Given the description of an element on the screen output the (x, y) to click on. 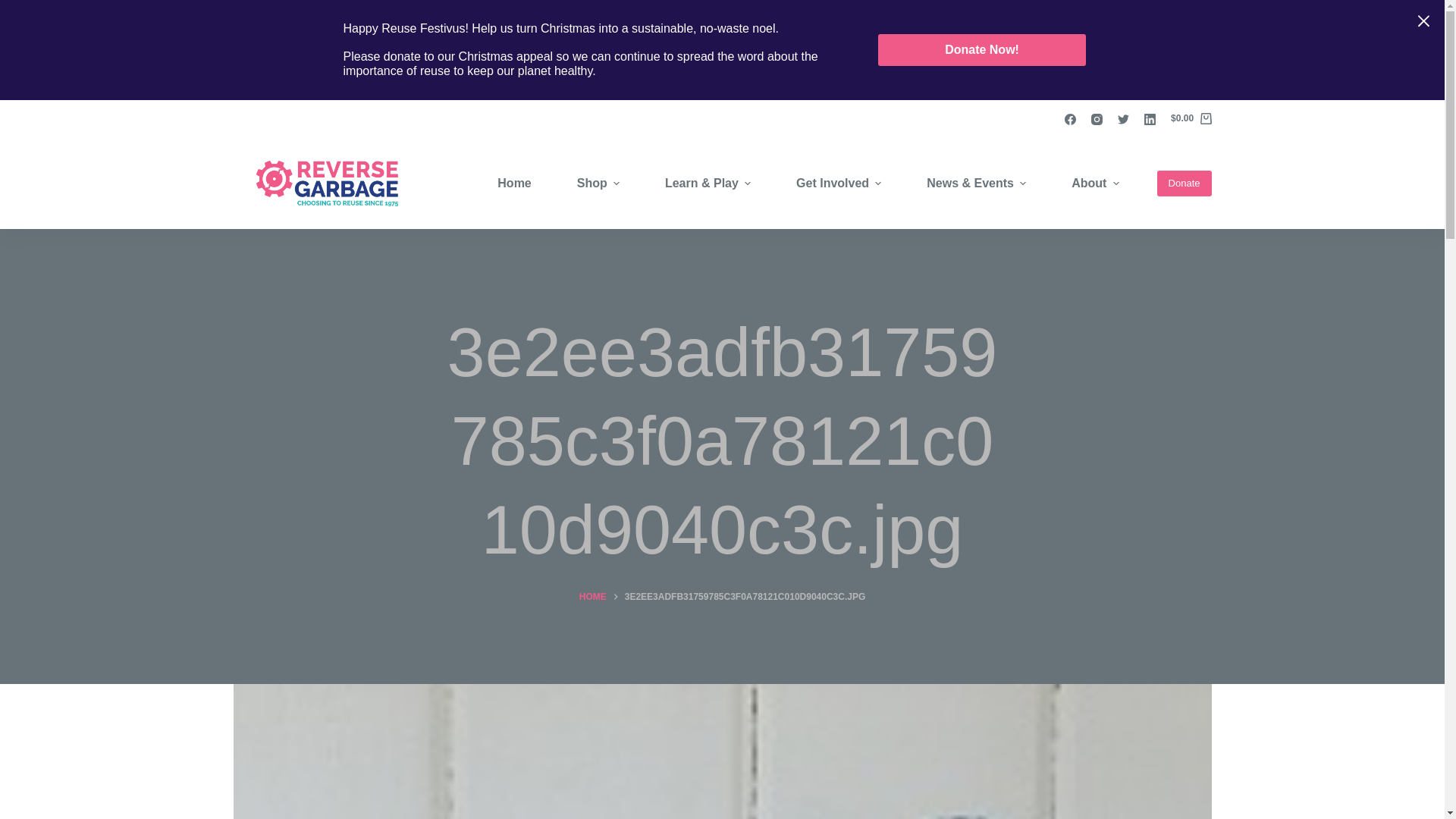
Donate Element type: text (1184, 183)
Skip to content Element type: text (15, 7)
$0.00 Element type: text (1190, 118)
Get Involved Element type: text (838, 183)
Shop Element type: text (598, 183)
News & Events Element type: text (975, 183)
Learn & Play Element type: text (707, 183)
About Element type: text (1094, 183)
Home Element type: text (513, 183)
HOME Element type: text (592, 597)
